Given the description of an element on the screen output the (x, y) to click on. 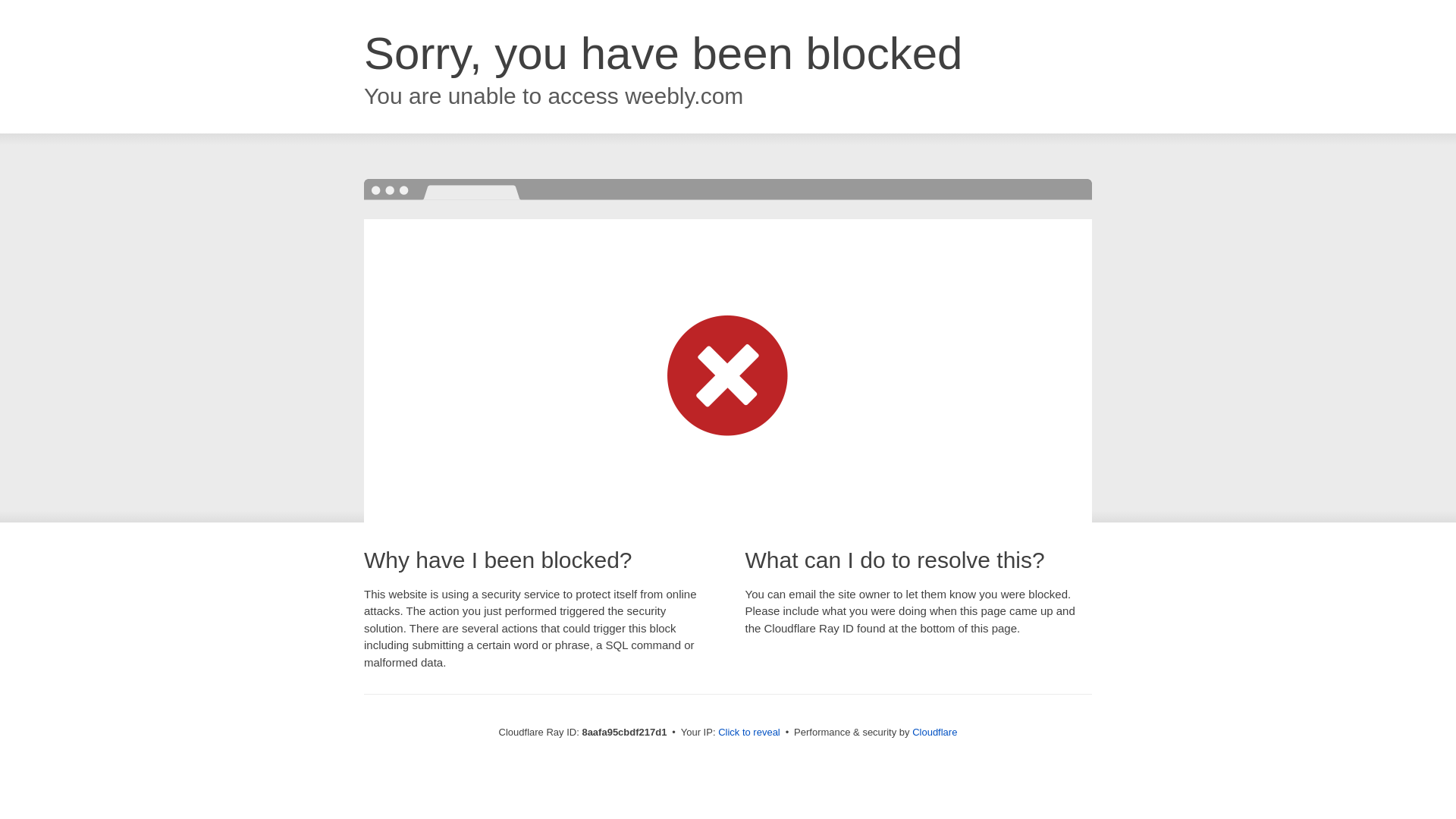
Click to reveal (748, 732)
Cloudflare (934, 731)
